Given the description of an element on the screen output the (x, y) to click on. 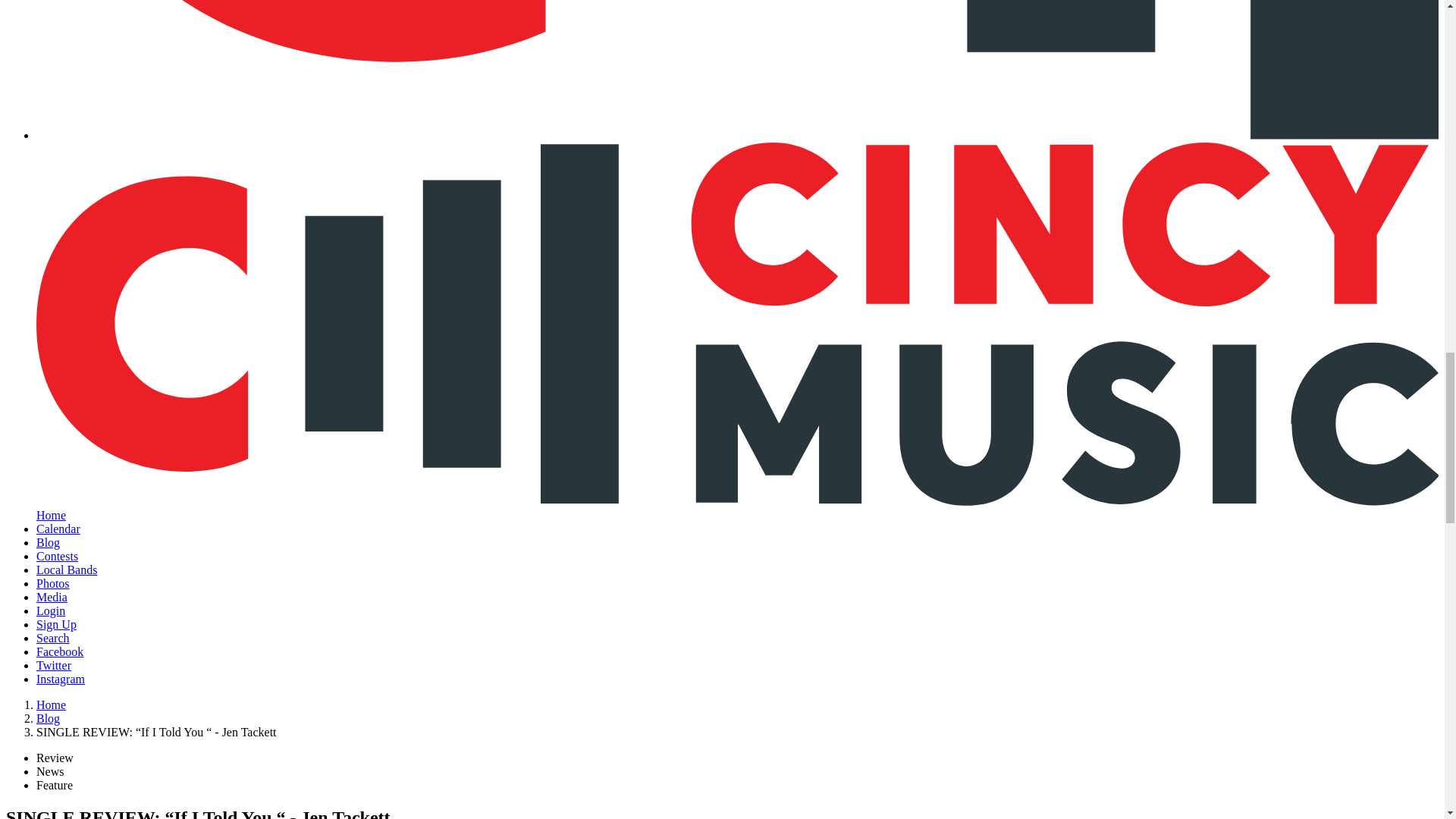
Blog (47, 717)
Home (50, 704)
Login (50, 610)
Instagram (60, 678)
Photos (52, 583)
Media (51, 596)
Sign Up (56, 624)
Calendar (58, 528)
Twitter (53, 665)
Search (52, 637)
